Given the description of an element on the screen output the (x, y) to click on. 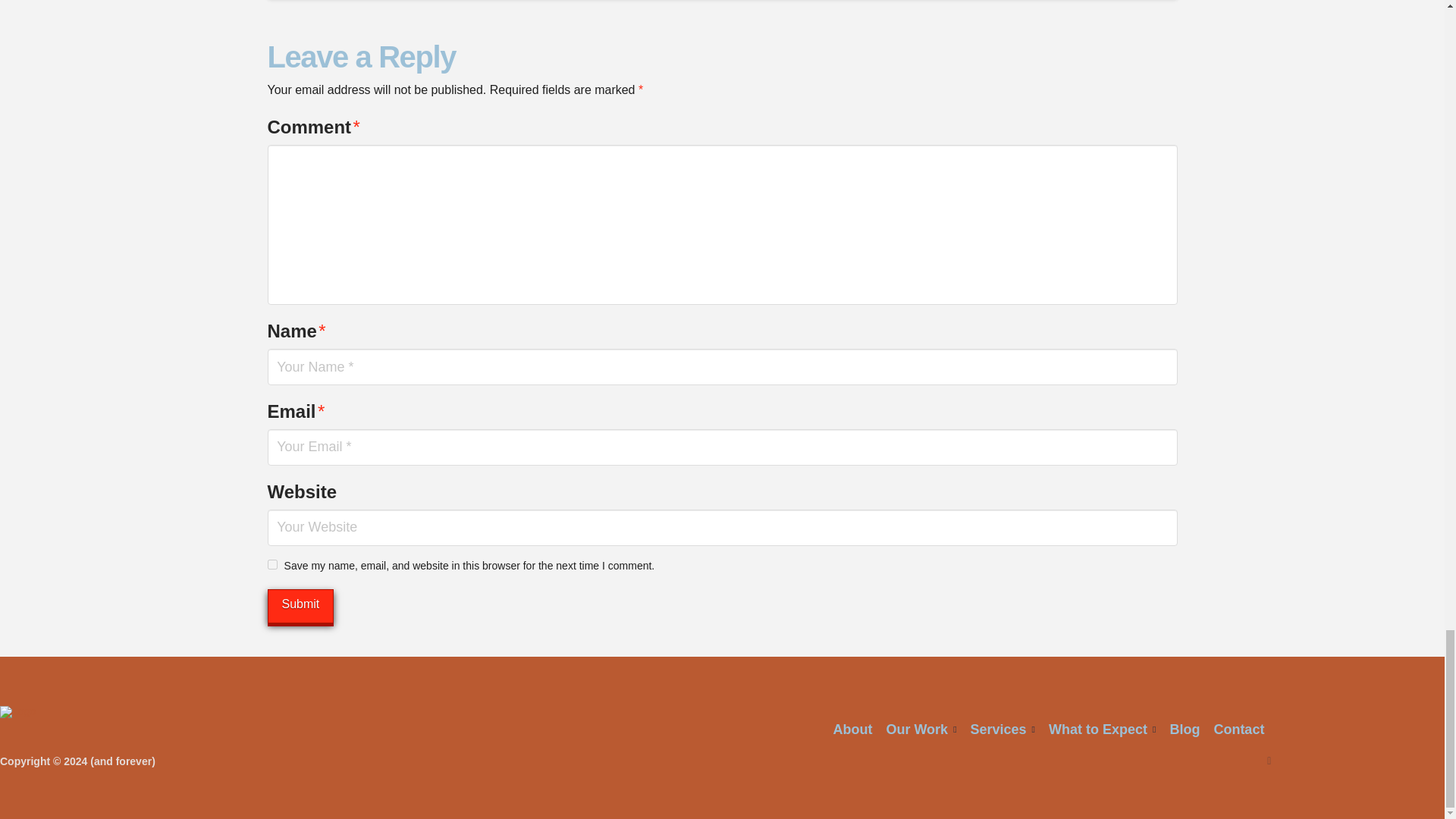
About (852, 729)
Our Work (920, 729)
yes (271, 564)
Submit (299, 605)
Submit (299, 605)
